Given the description of an element on the screen output the (x, y) to click on. 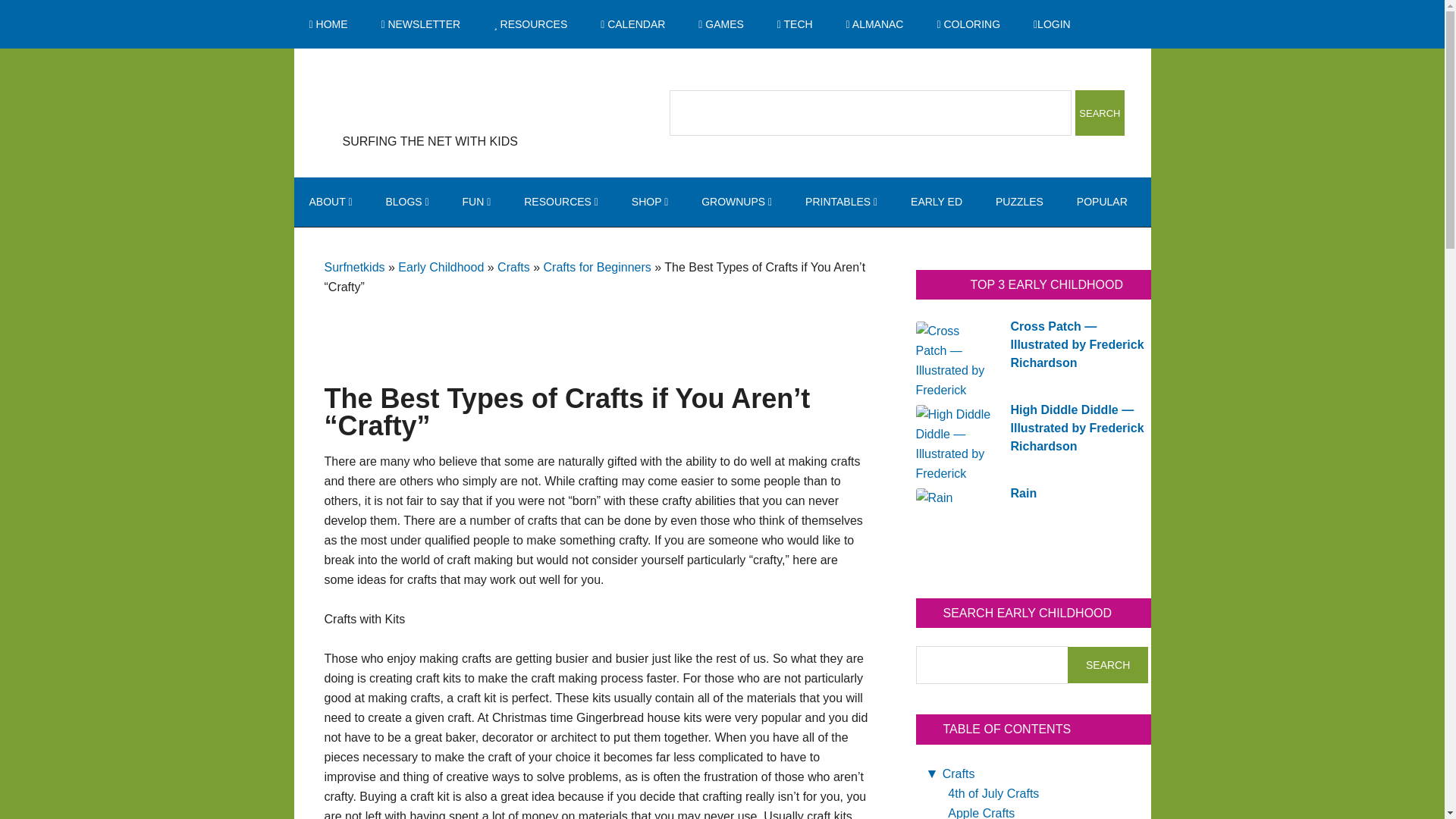
ABOUT (331, 201)
LOGIN (1051, 24)
SHOP (648, 201)
HOME (328, 24)
View all posts filed under Crafts (958, 773)
CALENDAR (632, 24)
TECH (794, 24)
Search (1099, 112)
View all posts filed under Apple Crafts (980, 812)
GAMES (720, 24)
